Given the description of an element on the screen output the (x, y) to click on. 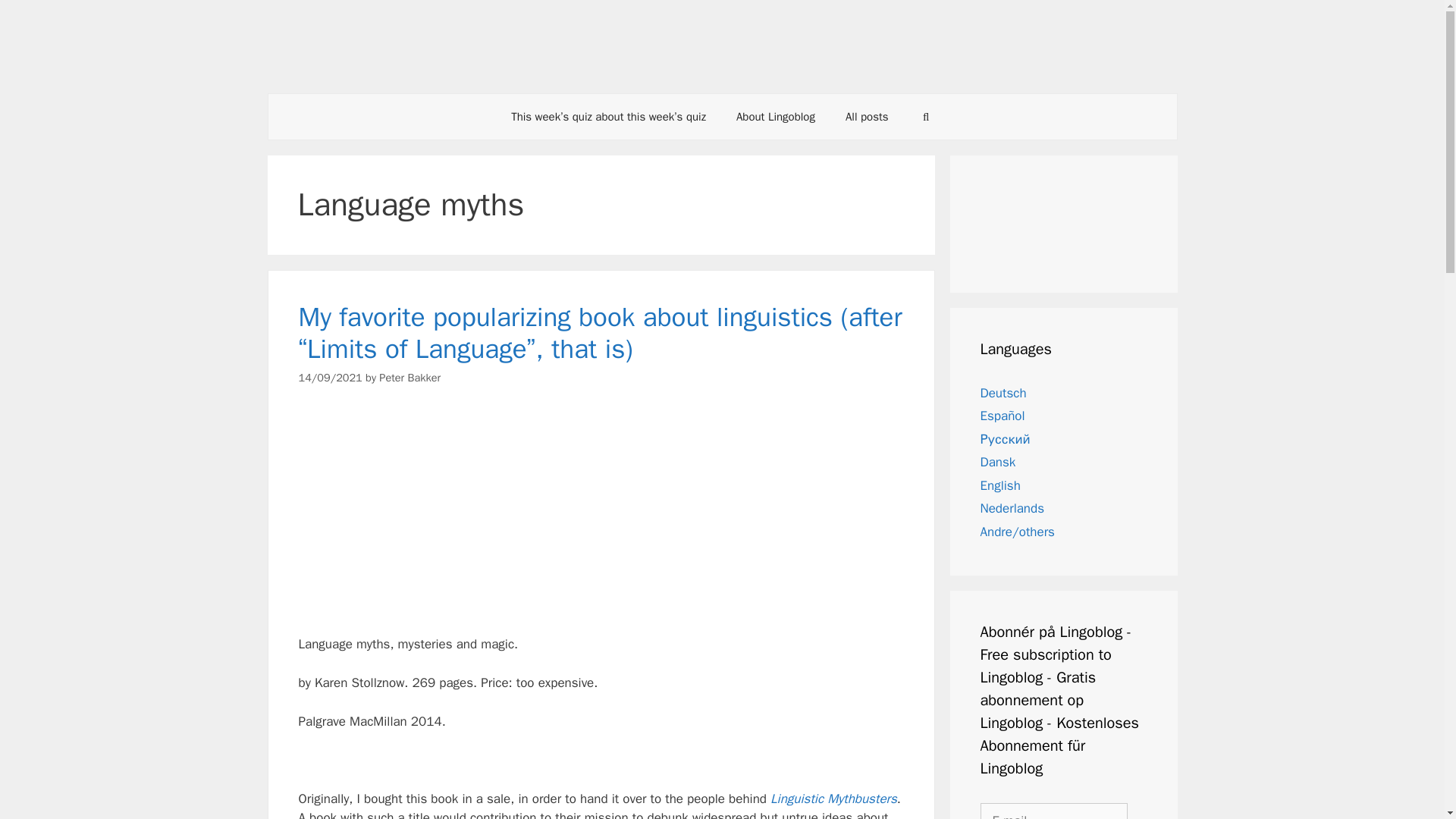
Linguistic Mythbusters (833, 798)
All posts (866, 116)
View all posts by Peter Bakker (409, 377)
About Lingoblog (774, 116)
Peter Bakker (409, 377)
